Given the description of an element on the screen output the (x, y) to click on. 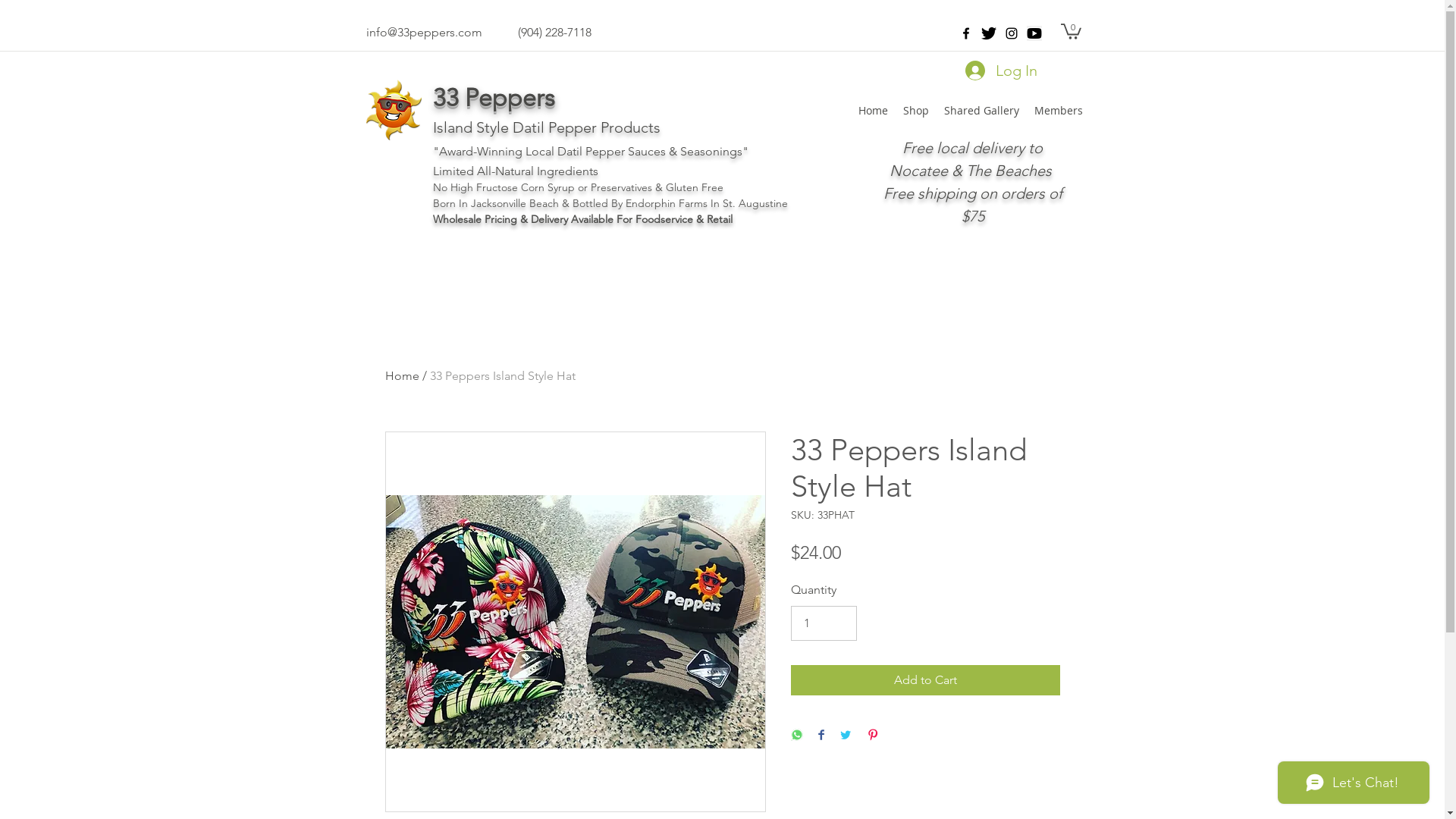
Home Element type: text (402, 375)
info@33peppers.com Element type: text (423, 32)
Home Element type: text (872, 110)
Log In Element type: text (998, 70)
Members Element type: text (1058, 110)
0 Element type: text (1070, 30)
Shared Gallery Element type: text (980, 110)
33 Peppers Island Style Hat Element type: text (501, 375)
Shop Element type: text (914, 110)
Sun Layer with Style copy.png Element type: hover (392, 109)
Add to Cart Element type: text (924, 680)
